Given the description of an element on the screen output the (x, y) to click on. 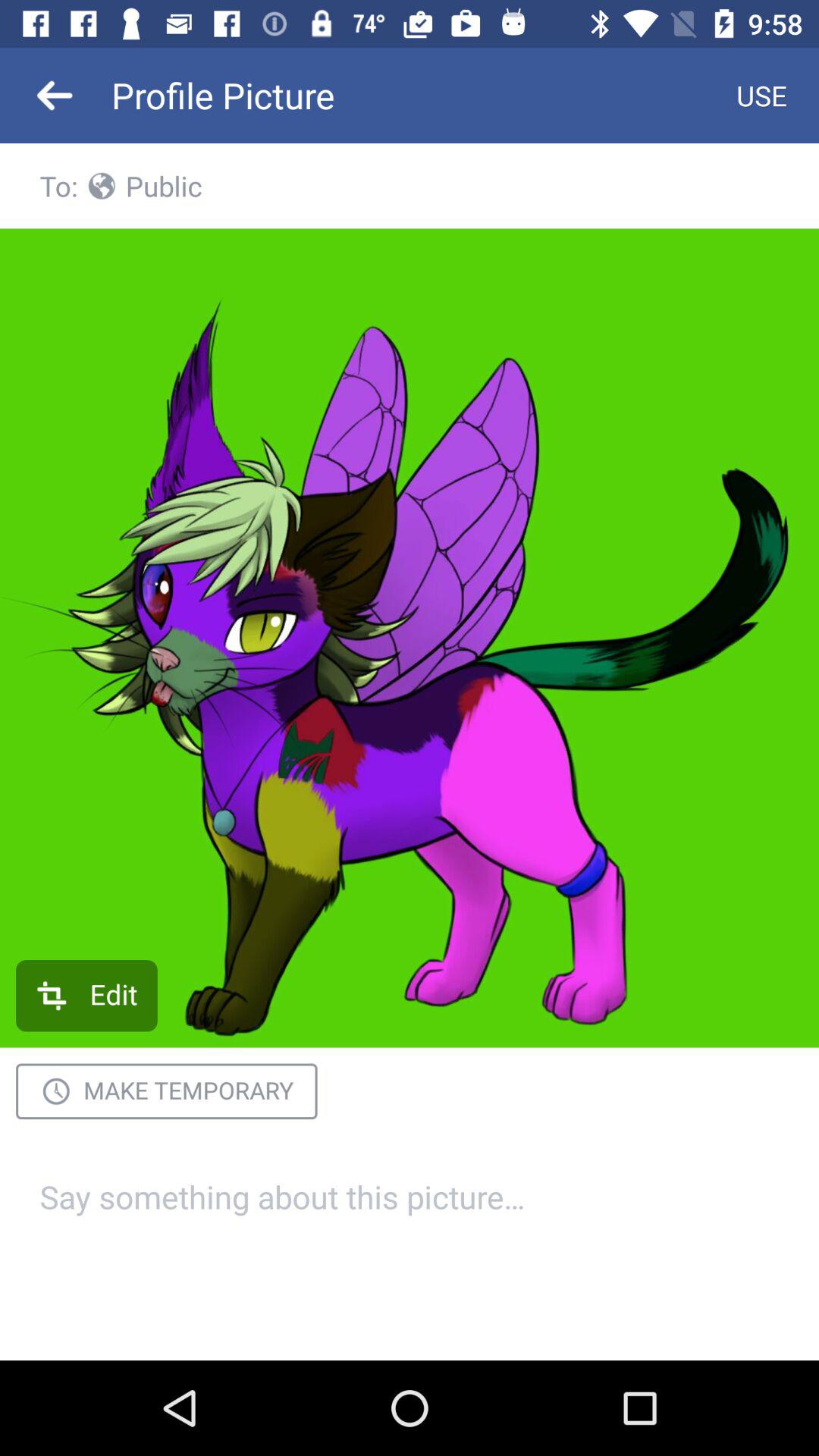
open the icon below make temporary icon (409, 1215)
